Given the description of an element on the screen output the (x, y) to click on. 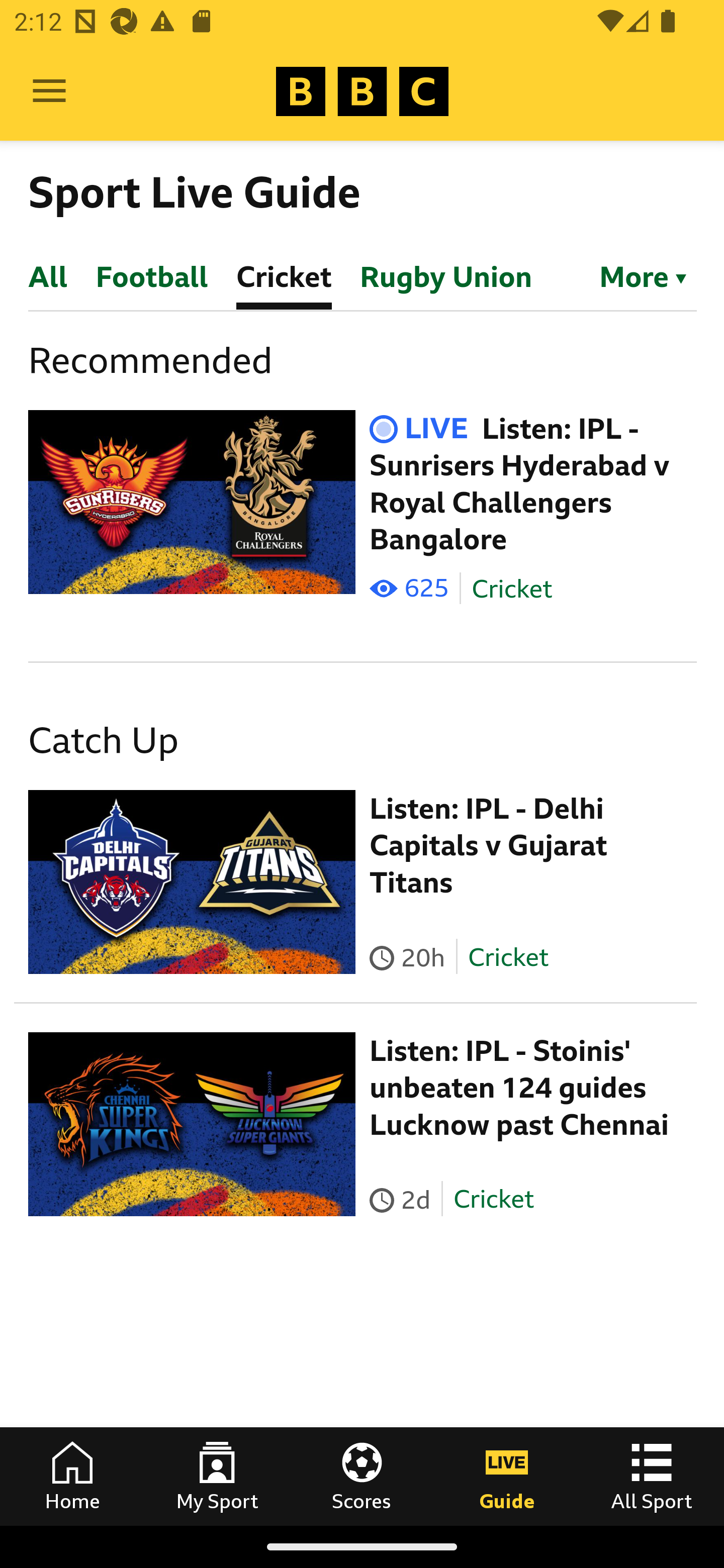
Open Menu (49, 91)
Filter by section. Currently selected: Cricket (634, 275)
Cricket (511, 589)
Listen: IPL - Delhi Capitals v Gujarat Titans (488, 845)
Cricket (507, 956)
Cricket (493, 1199)
Home (72, 1475)
My Sport (216, 1475)
Scores (361, 1475)
All Sport (651, 1475)
